Given the description of an element on the screen output the (x, y) to click on. 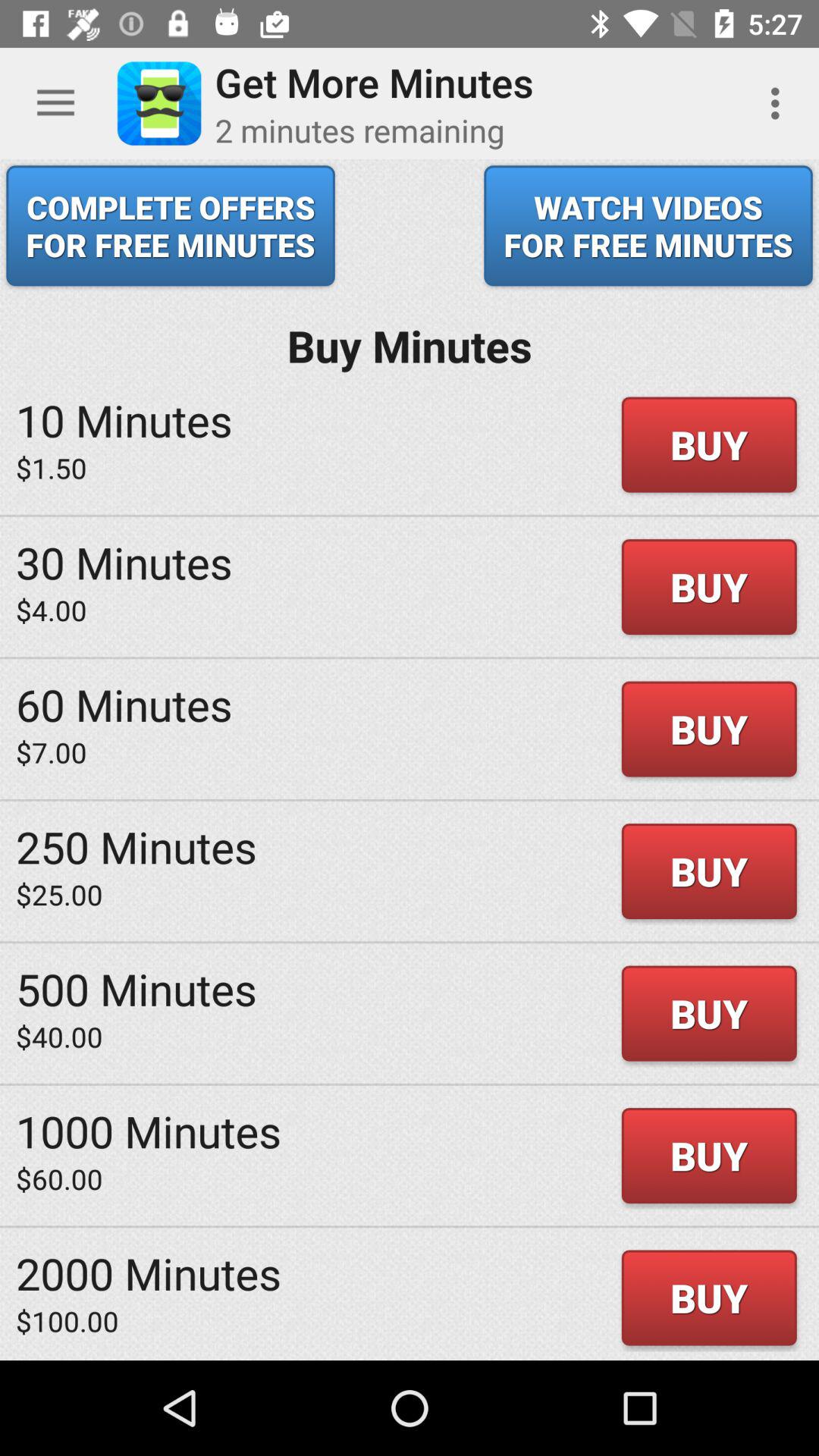
turn off icon next to buy item (51, 467)
